Given the description of an element on the screen output the (x, y) to click on. 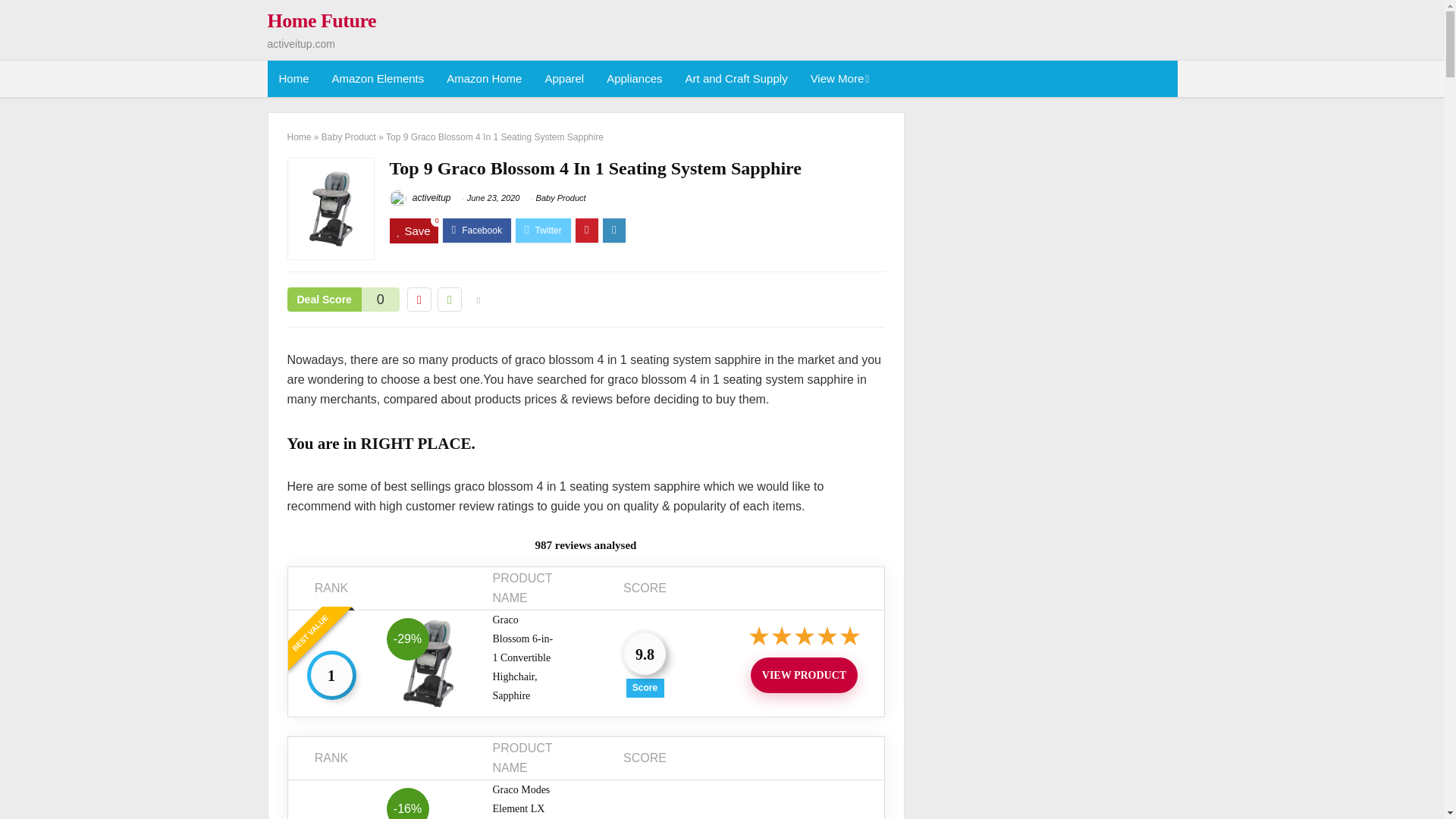
Art and Craft Supply (736, 78)
Amazon Elements (377, 78)
Amazon Home (483, 78)
View More (838, 78)
Vote down (418, 299)
Home (293, 78)
Appliances (633, 78)
Apparel (563, 78)
View all posts in Baby Product (560, 197)
